Given the description of an element on the screen output the (x, y) to click on. 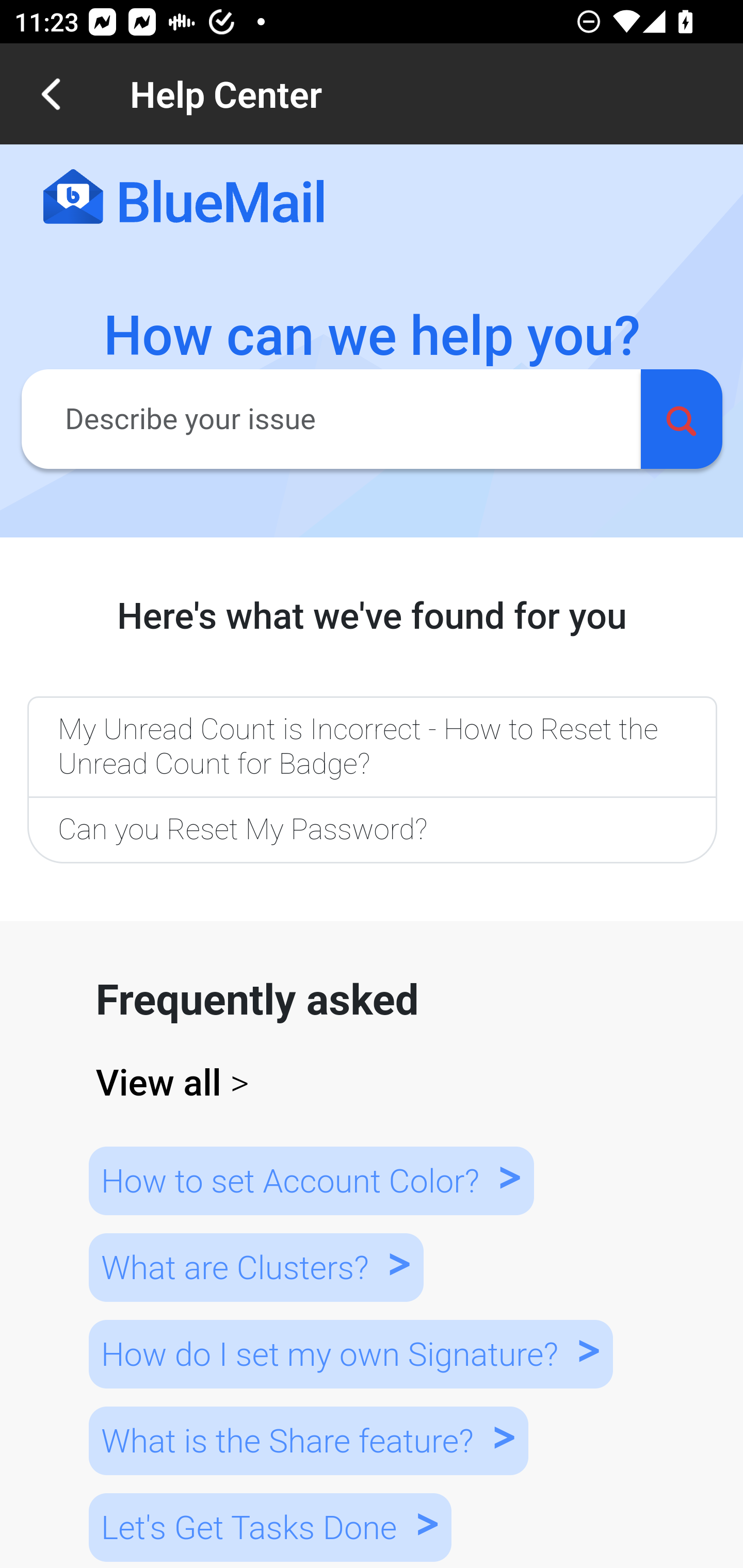
Navigate up (50, 93)
BlueMail Logo (184, 197)
Toggle navigation (663, 197)
How can we help you? (372, 336)
search (680, 418)
Can you Reset My Password? (371, 830)
View all> (372, 1083)
How to set Account Color?> (310, 1180)
What are Clusters?> (255, 1267)
How do I set my own Signature?> (349, 1353)
What is the Share feature?> (307, 1440)
Let's Get Tasks Done> (269, 1527)
